Given the description of an element on the screen output the (x, y) to click on. 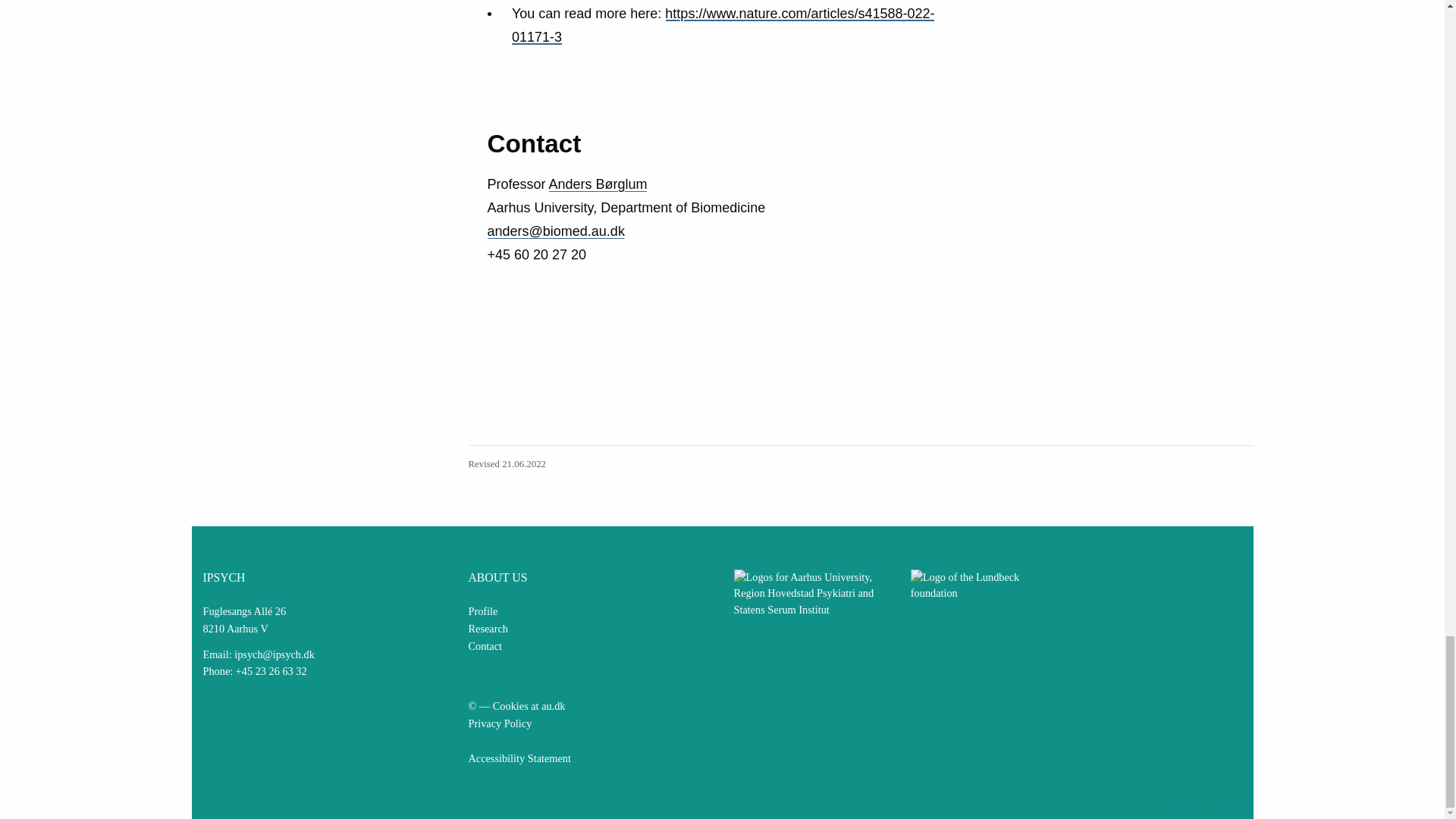
Profile (482, 611)
